Given the description of an element on the screen output the (x, y) to click on. 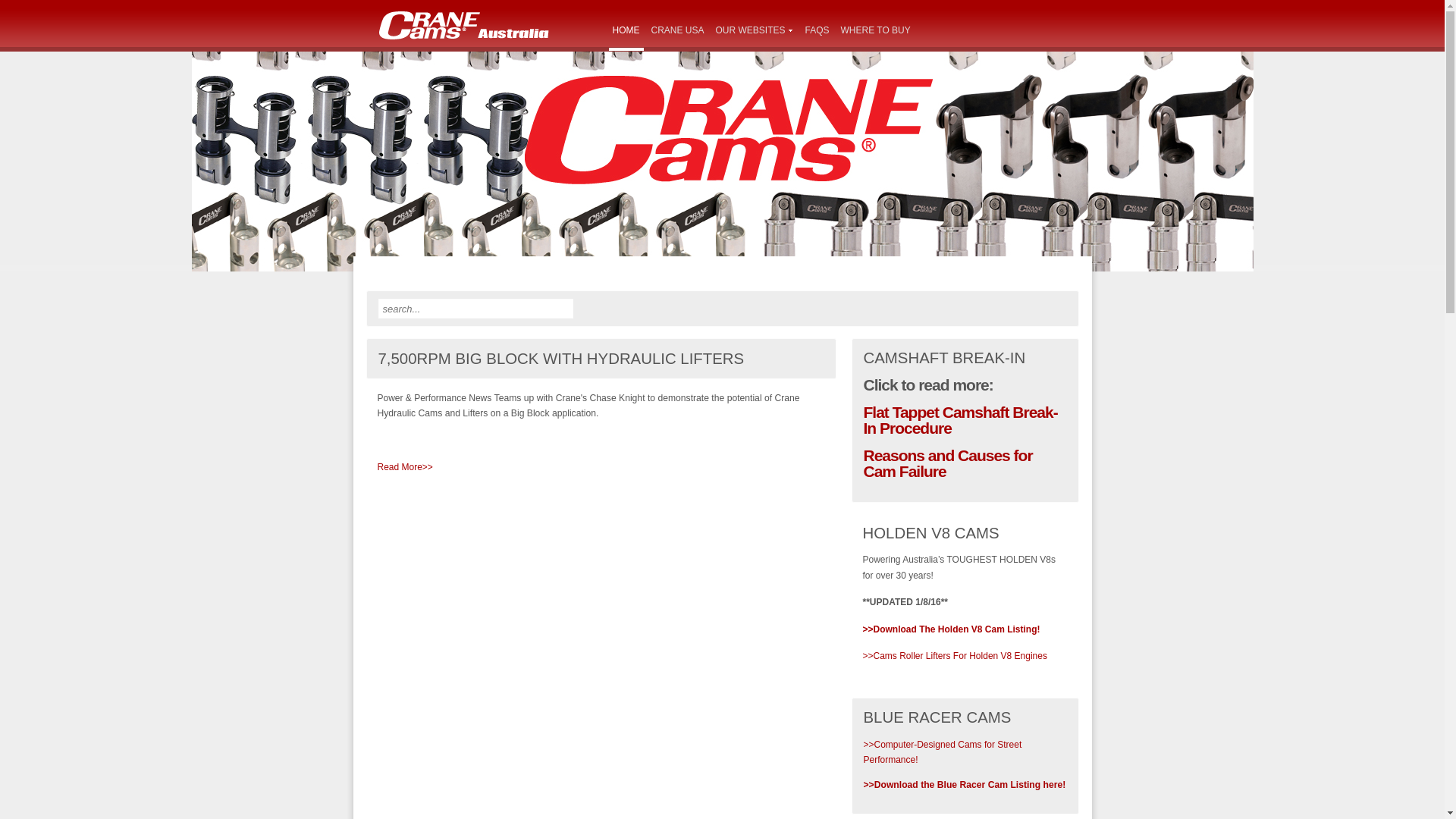
CRANE USA Element type: text (677, 30)
Flat Tappet Camshaft Break-In Procedure Element type: text (959, 419)
Read More>> Element type: text (405, 466)
7,500RPM BIG BLOCK WITH HYDRAULIC LIFTERS Element type: text (560, 358)
Reasons and Causes for Cam Failure Element type: text (947, 463)
>>Computer-Designed Cams for Street Performance! Element type: text (941, 752)
>>Download The Holden V8 Cam Listing! Element type: text (951, 629)
HOME Element type: text (625, 30)
FAQS Element type: text (817, 30)
WHERE TO BUY Element type: text (875, 30)
>>Cams Roller Lifters For Holden V8 Engines Element type: text (954, 655)
>>Download the Blue Racer Cam Listing here! Element type: text (963, 784)
